Given the description of an element on the screen output the (x, y) to click on. 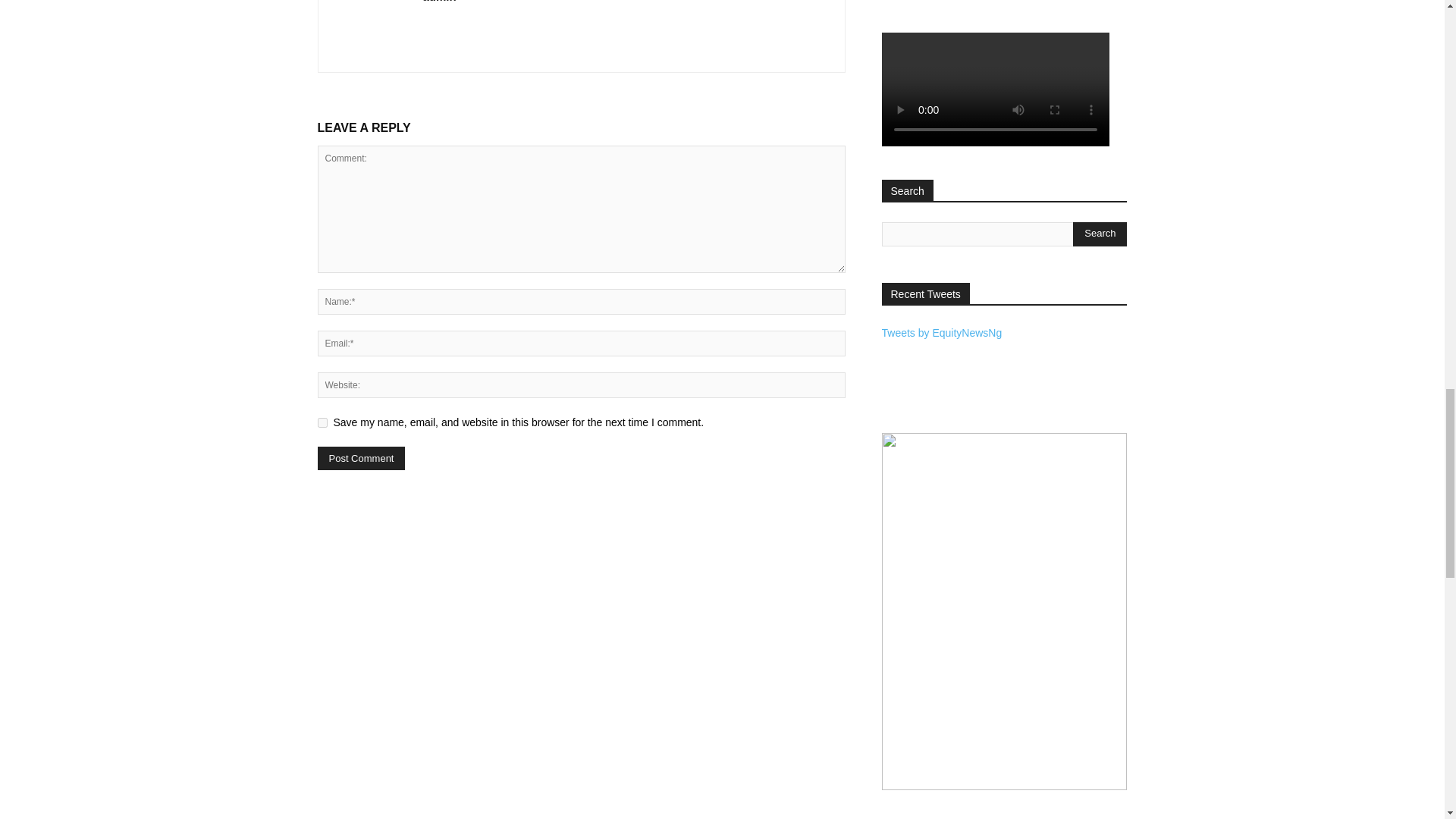
yes (321, 422)
Search (1099, 233)
Post Comment (360, 458)
